Given the description of an element on the screen output the (x, y) to click on. 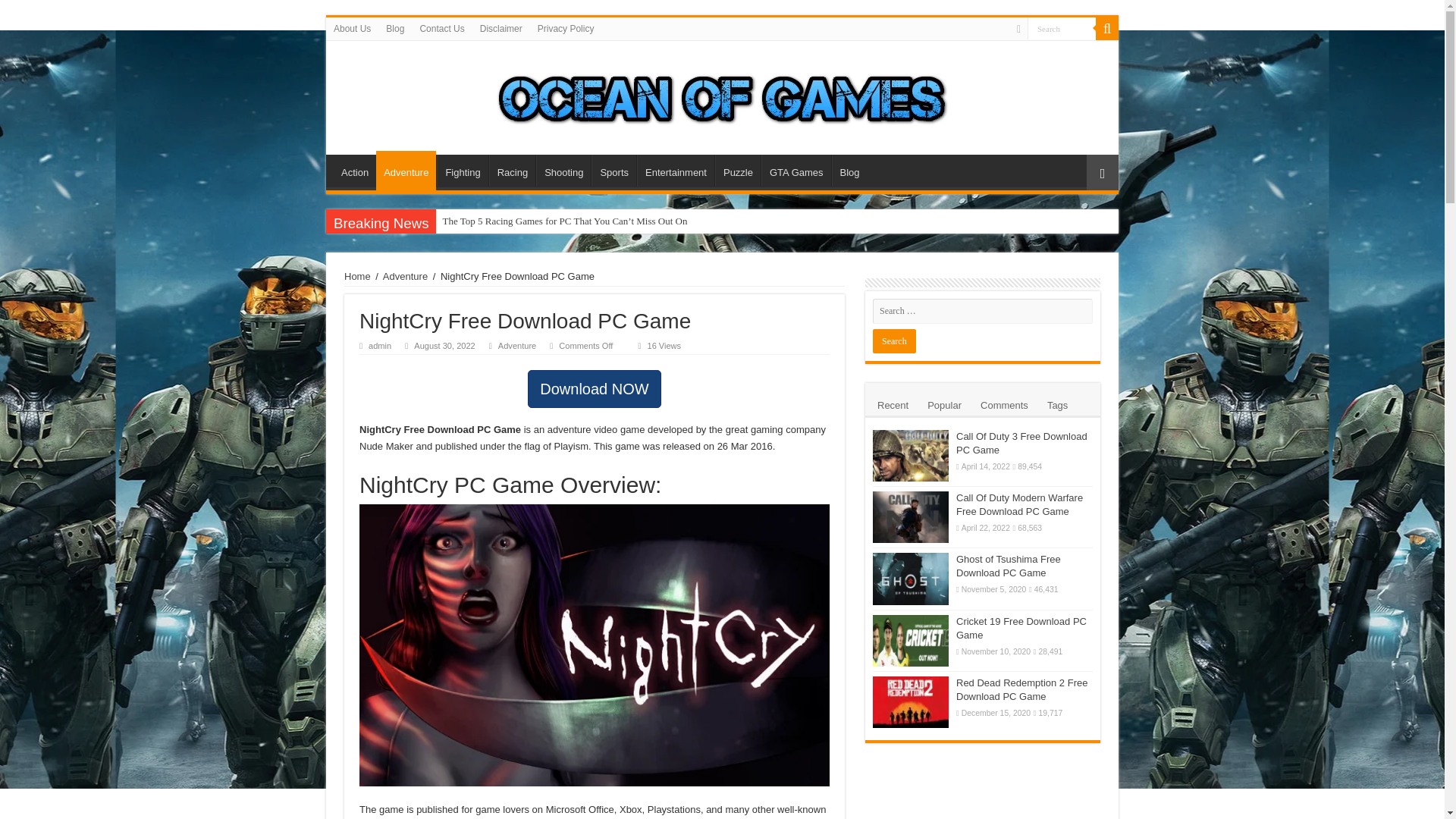
Racing (512, 170)
Search (893, 340)
Action (354, 170)
Search (1107, 28)
Home (357, 276)
Fighting (461, 170)
Contact Us (441, 28)
Download NOW (594, 388)
Blog (849, 170)
admin (379, 345)
